Given the description of an element on the screen output the (x, y) to click on. 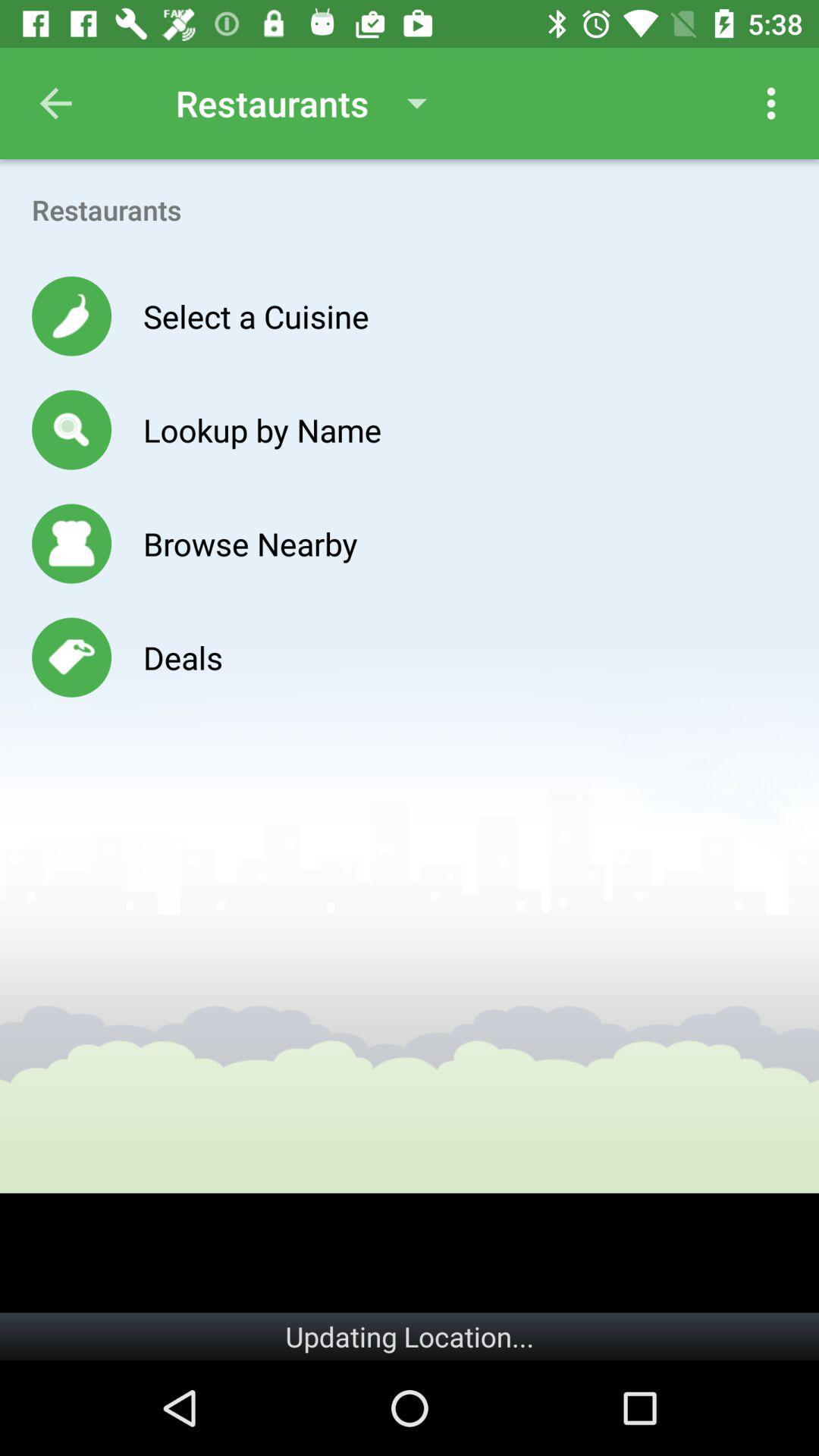
launch the icon above the restaurants (55, 103)
